Given the description of an element on the screen output the (x, y) to click on. 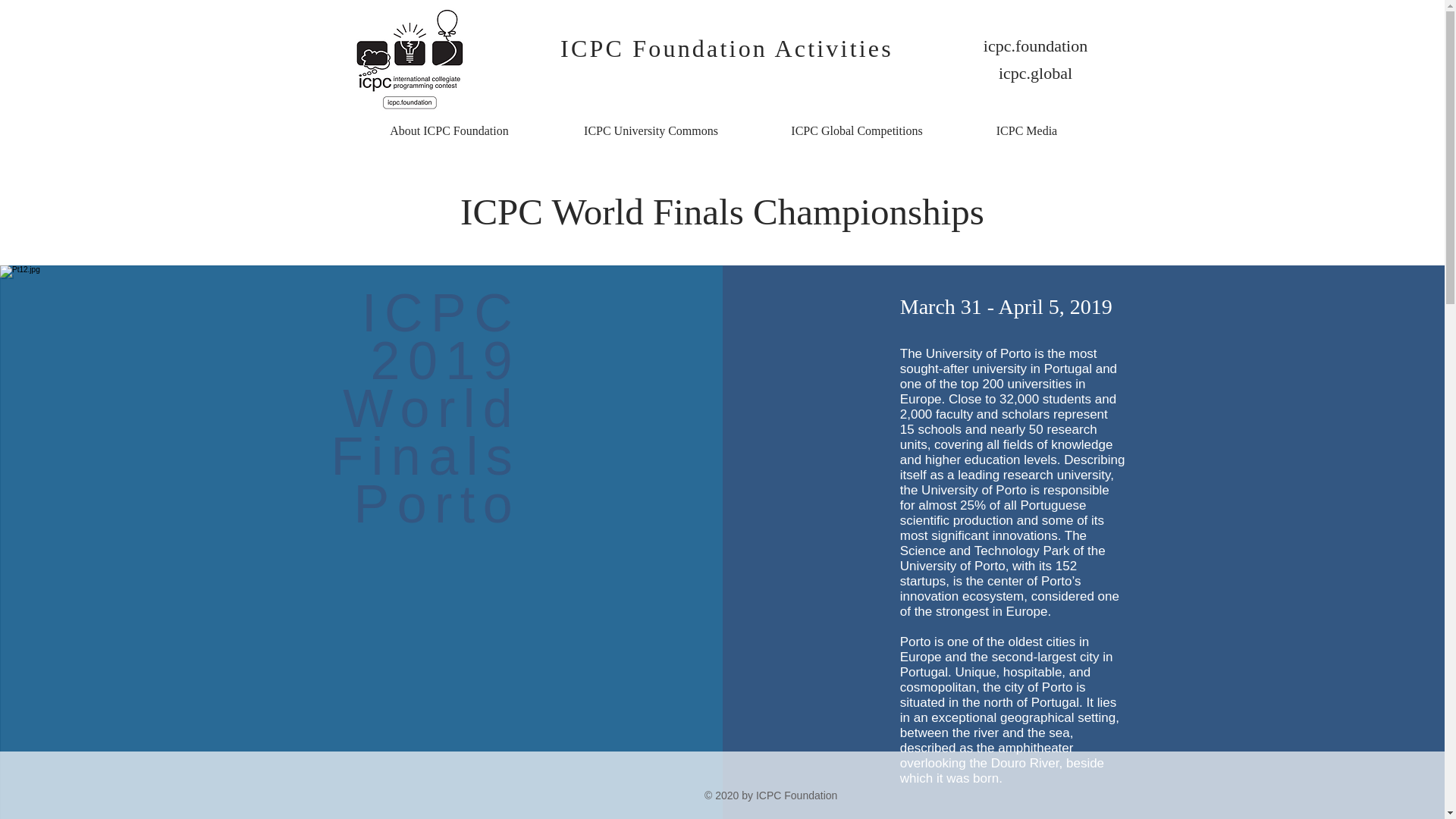
icpc.foundation (1035, 46)
icpc.global (1035, 73)
ICPC Foundation Activities (726, 48)
